Given the description of an element on the screen output the (x, y) to click on. 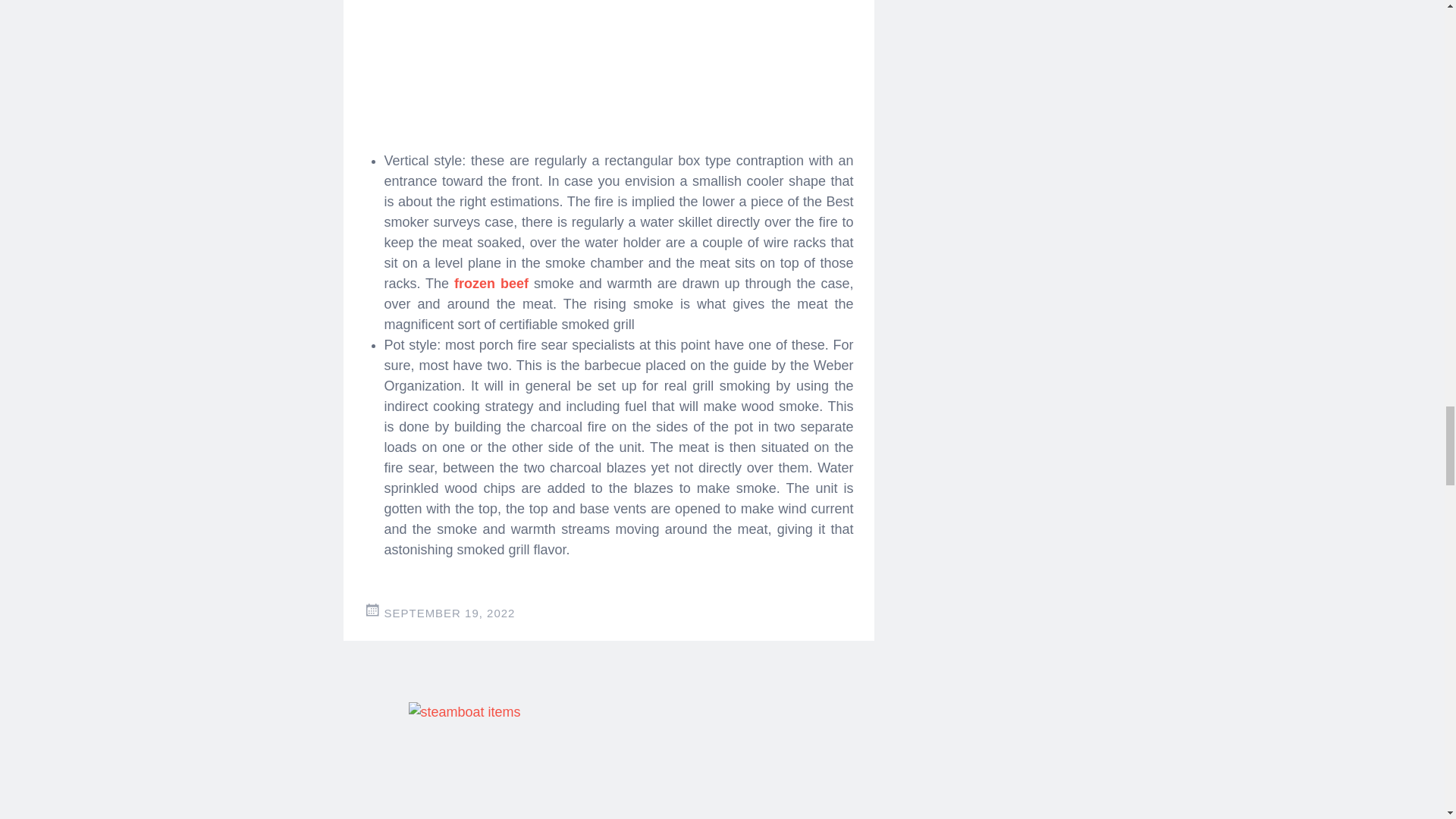
11:55 am (449, 612)
